Given the description of an element on the screen output the (x, y) to click on. 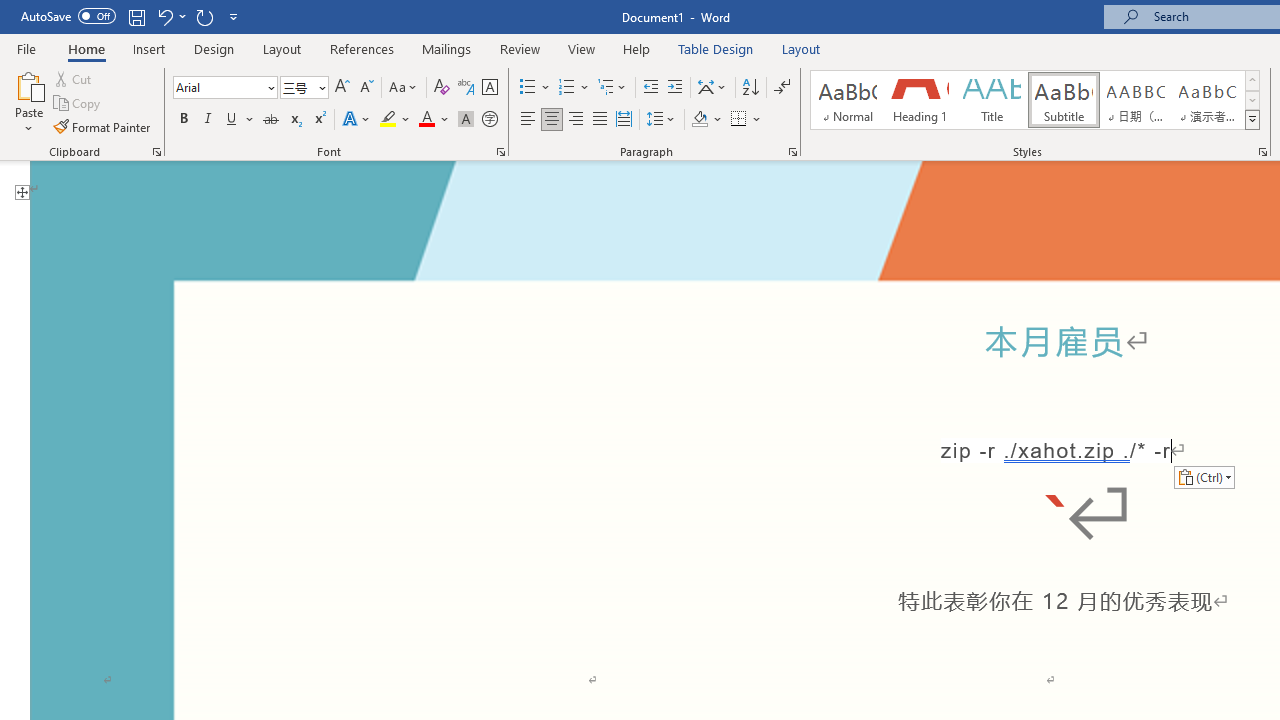
Strikethrough (270, 119)
Paragraph... (792, 151)
Subscript (294, 119)
AutomationID: QuickStylesGallery (1035, 99)
Grow Font (342, 87)
Shrink Font (365, 87)
Undo Paste (164, 15)
Heading 1 (920, 100)
